Given the description of an element on the screen output the (x, y) to click on. 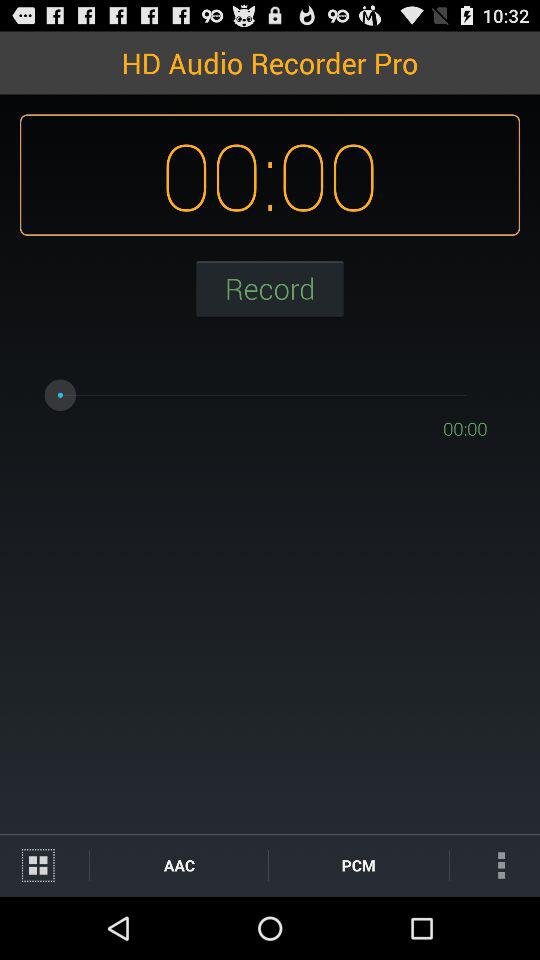
choose the item to the left of pcm item (178, 864)
